Given the description of an element on the screen output the (x, y) to click on. 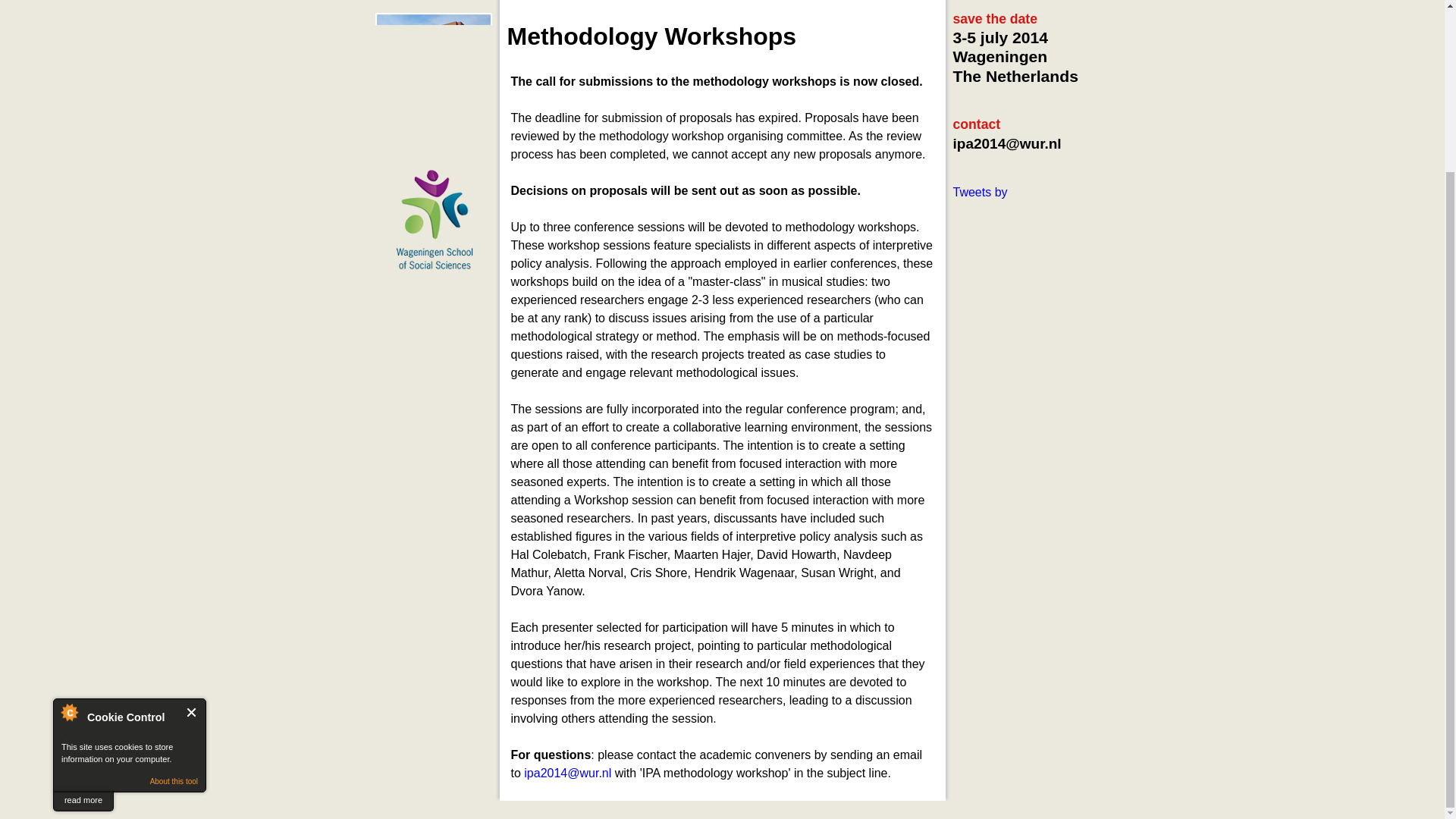
About Cookie Control (68, 503)
About this tool (173, 573)
Tweets by (979, 192)
Close (191, 504)
About Cookie Control (68, 503)
read more (82, 593)
